Given the description of an element on the screen output the (x, y) to click on. 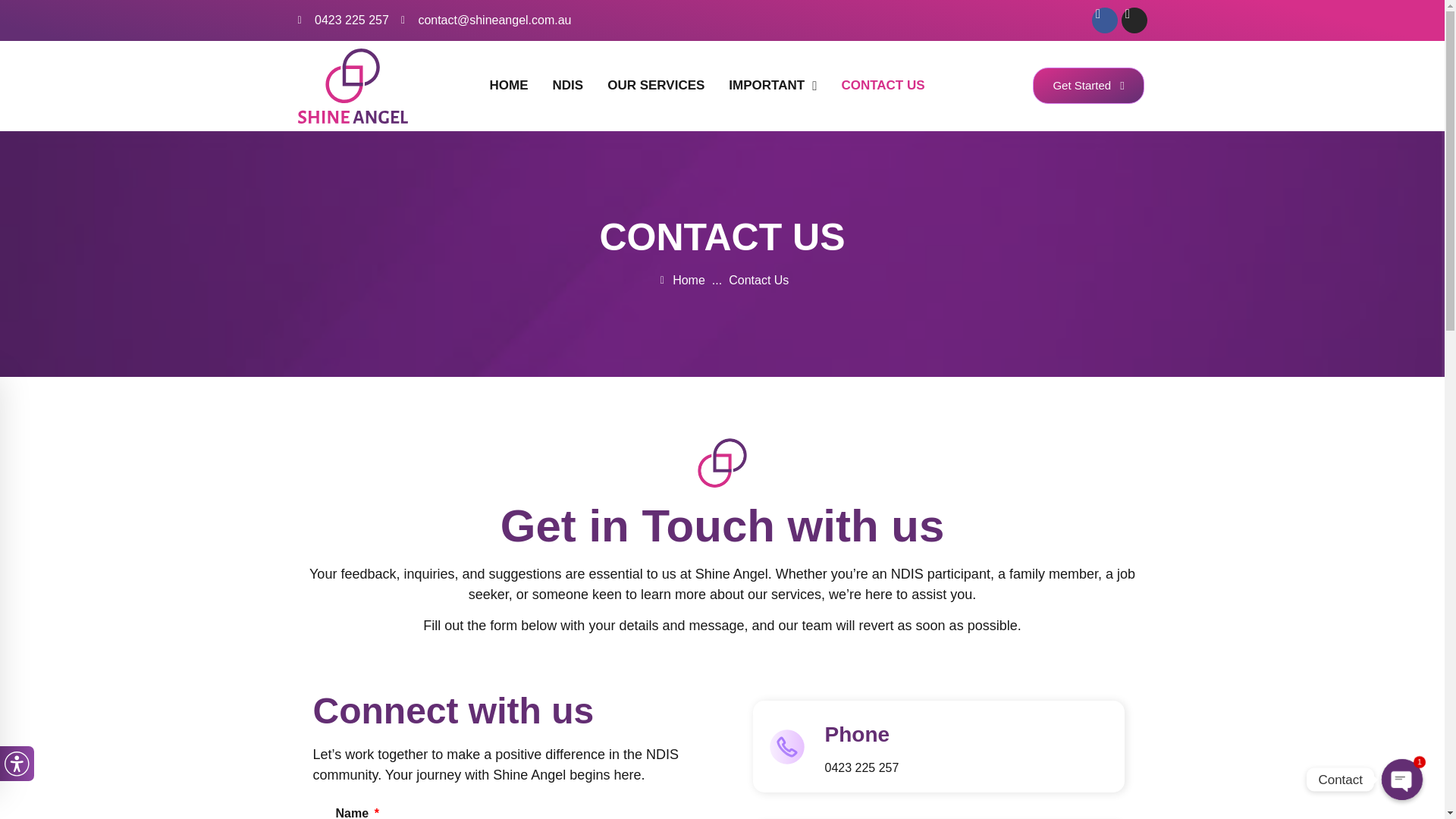
Get Started (1087, 85)
Contact Us (759, 280)
Phone (857, 734)
OUR SERVICES (655, 85)
0423 225 257 (342, 20)
NDIS (567, 85)
IMPORTANT (772, 85)
CONTACT US (882, 85)
Home (680, 280)
HOME (508, 85)
